Given the description of an element on the screen output the (x, y) to click on. 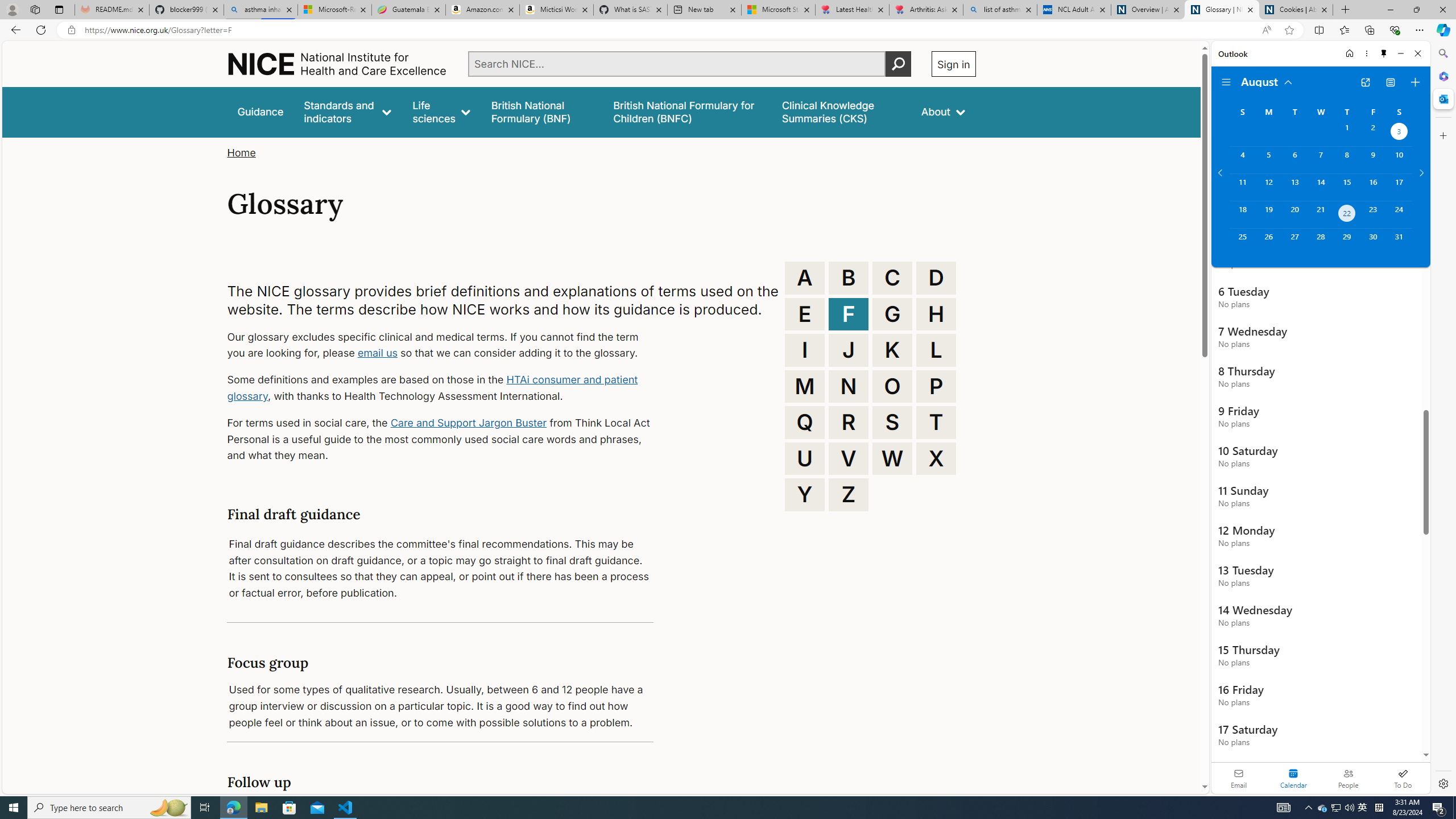
Thursday, August 15, 2024.  (1346, 186)
I (804, 350)
G (892, 313)
Saturday, August 31, 2024.  (1399, 241)
Saturday, August 3, 2024. Date selected.  (1399, 132)
D (935, 277)
